Given the description of an element on the screen output the (x, y) to click on. 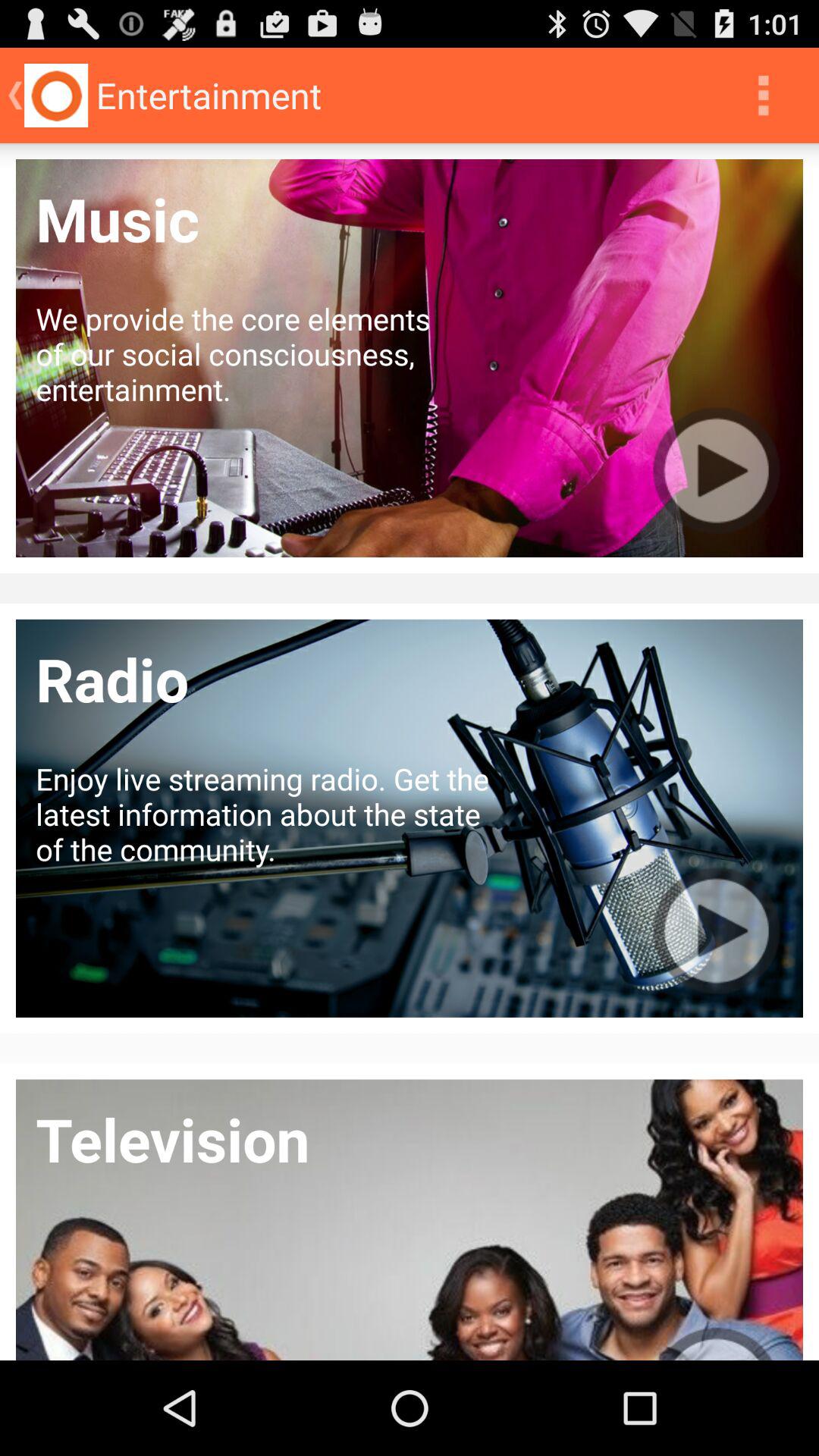
select the bottom image (409, 1219)
